Given the description of an element on the screen output the (x, y) to click on. 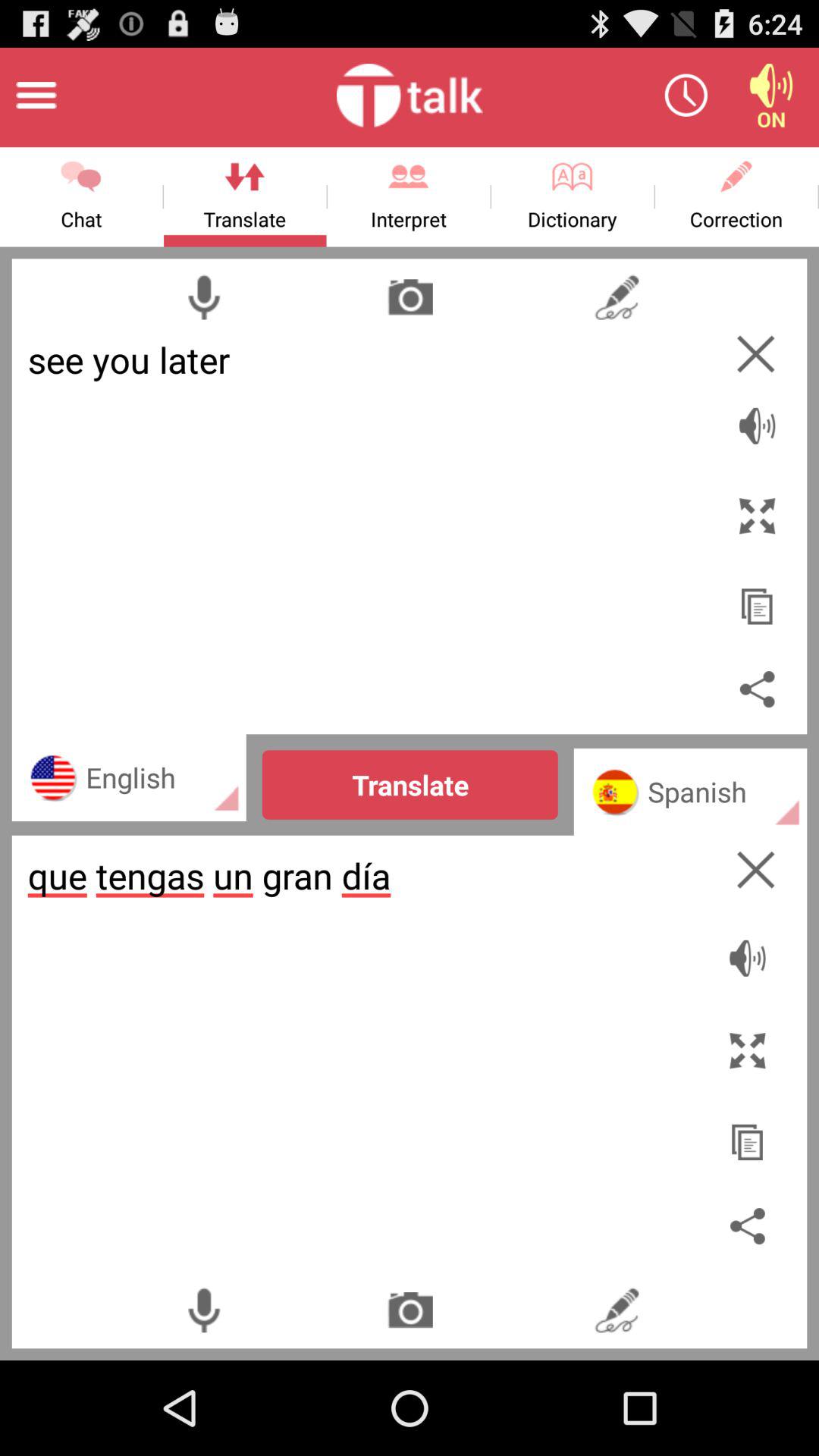
activate microphone (203, 296)
